Given the description of an element on the screen output the (x, y) to click on. 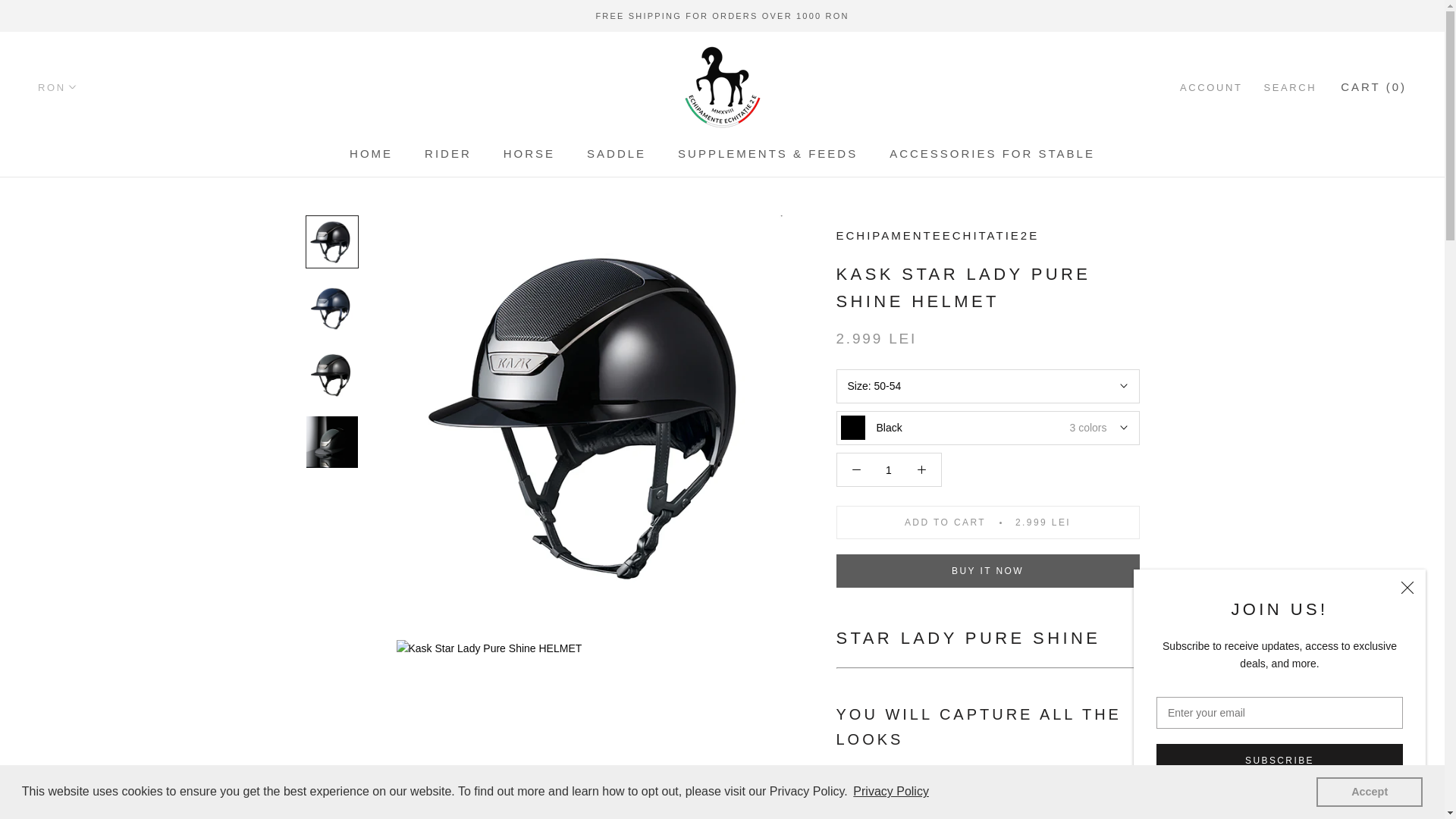
Accept (1369, 791)
SUBSCRIBE (1279, 760)
1 (888, 469)
Privacy Policy (890, 791)
